Given the description of an element on the screen output the (x, y) to click on. 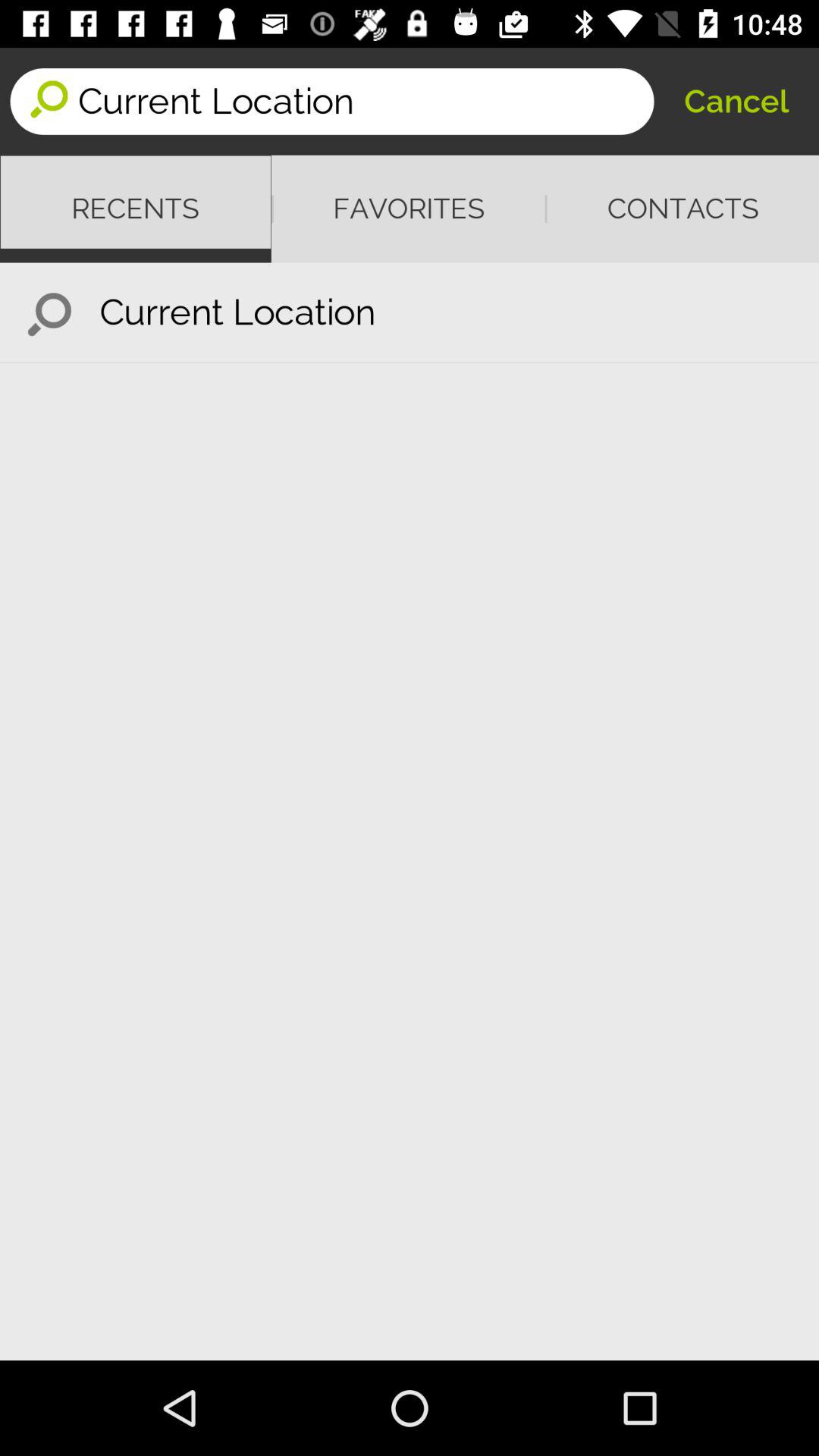
jump to cancel item (736, 101)
